Given the description of an element on the screen output the (x, y) to click on. 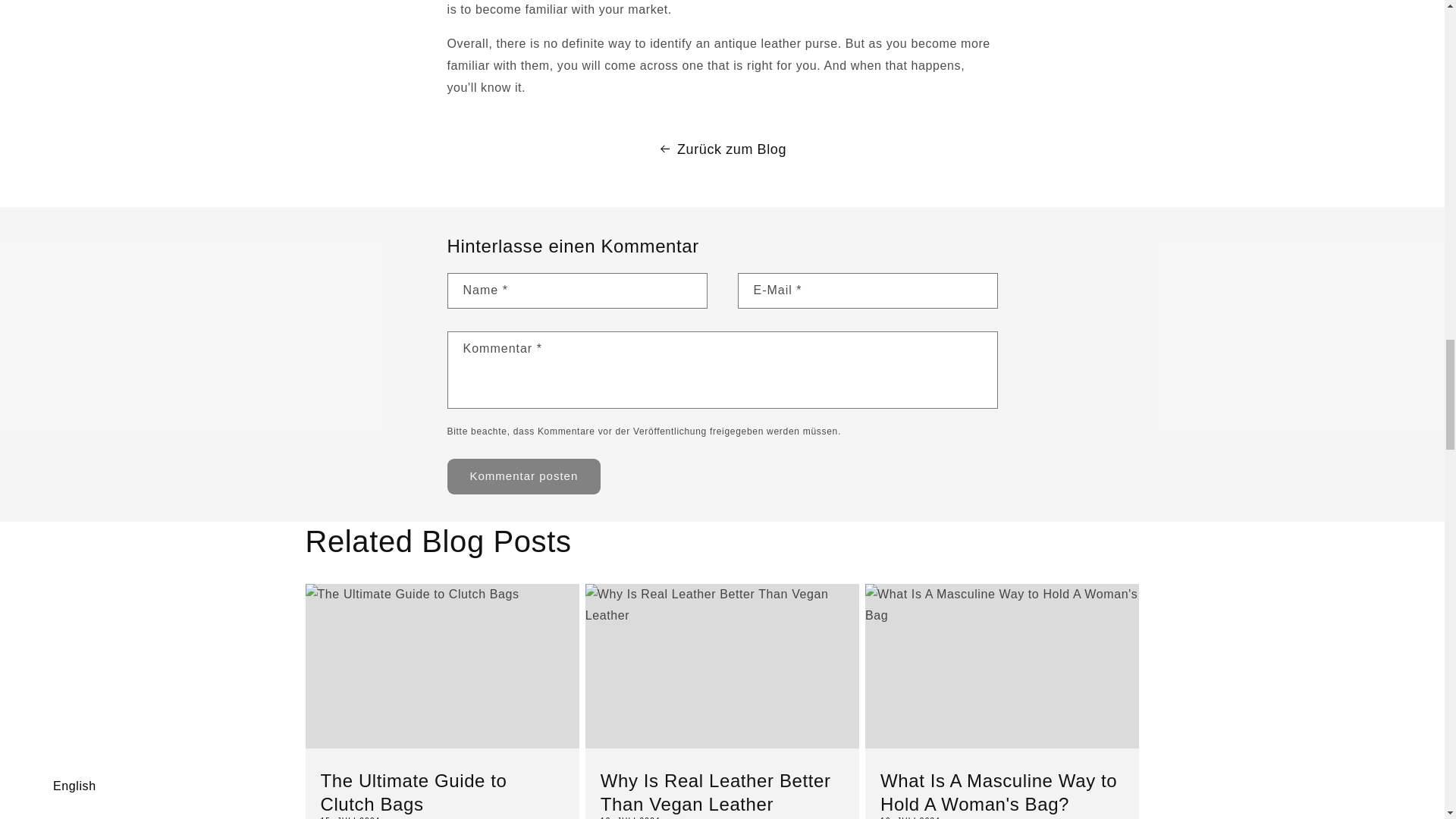
Kommentar posten (523, 476)
